Given the description of an element on the screen output the (x, y) to click on. 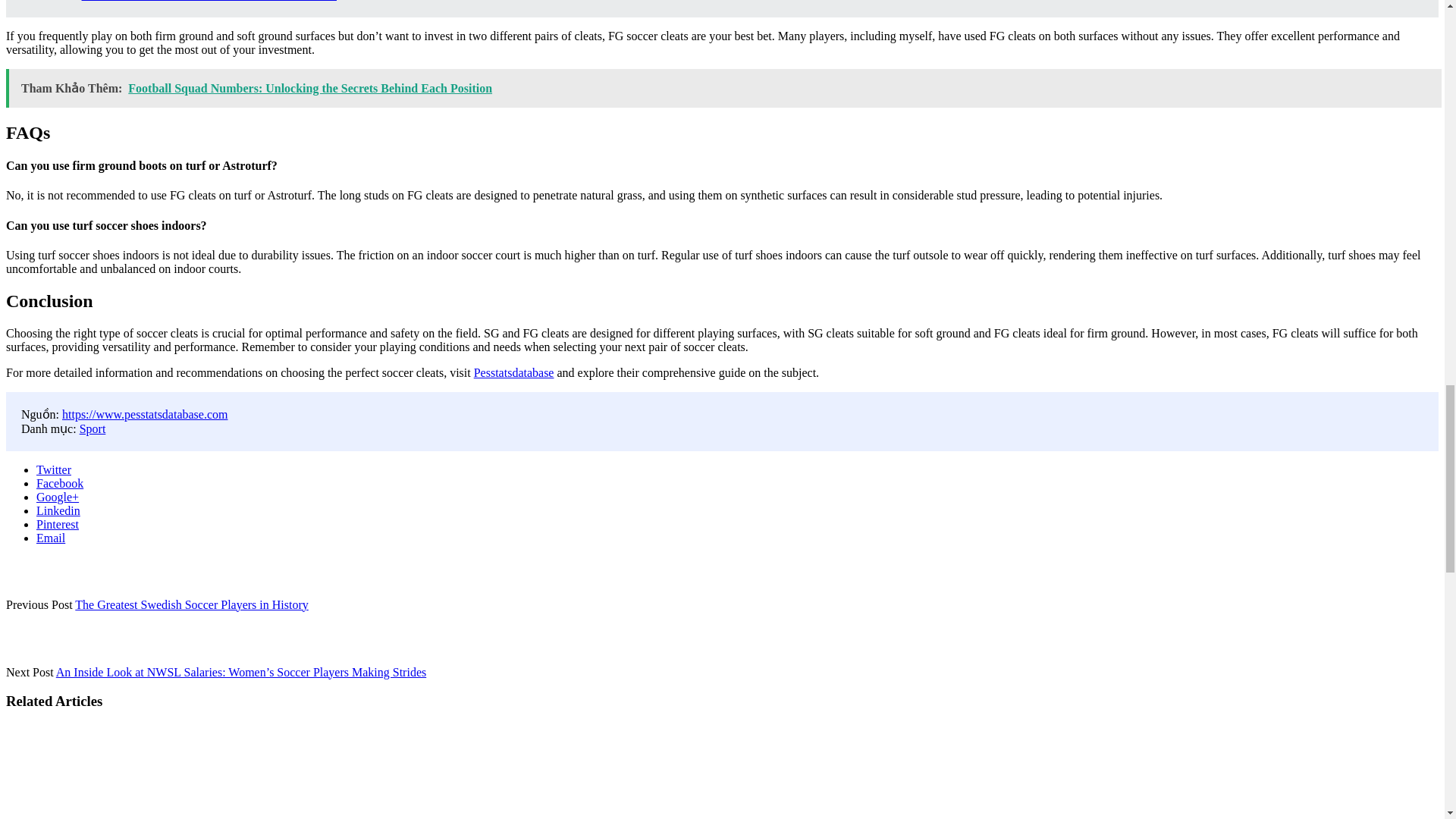
Sport (93, 428)
The Greatest Swedish Soccer Players in History (191, 604)
Facebook (59, 482)
Linkedin (58, 510)
Email (50, 537)
Pesstatsdatabase (514, 372)
Twitter (53, 469)
Pinterest (57, 523)
